Given the description of an element on the screen output the (x, y) to click on. 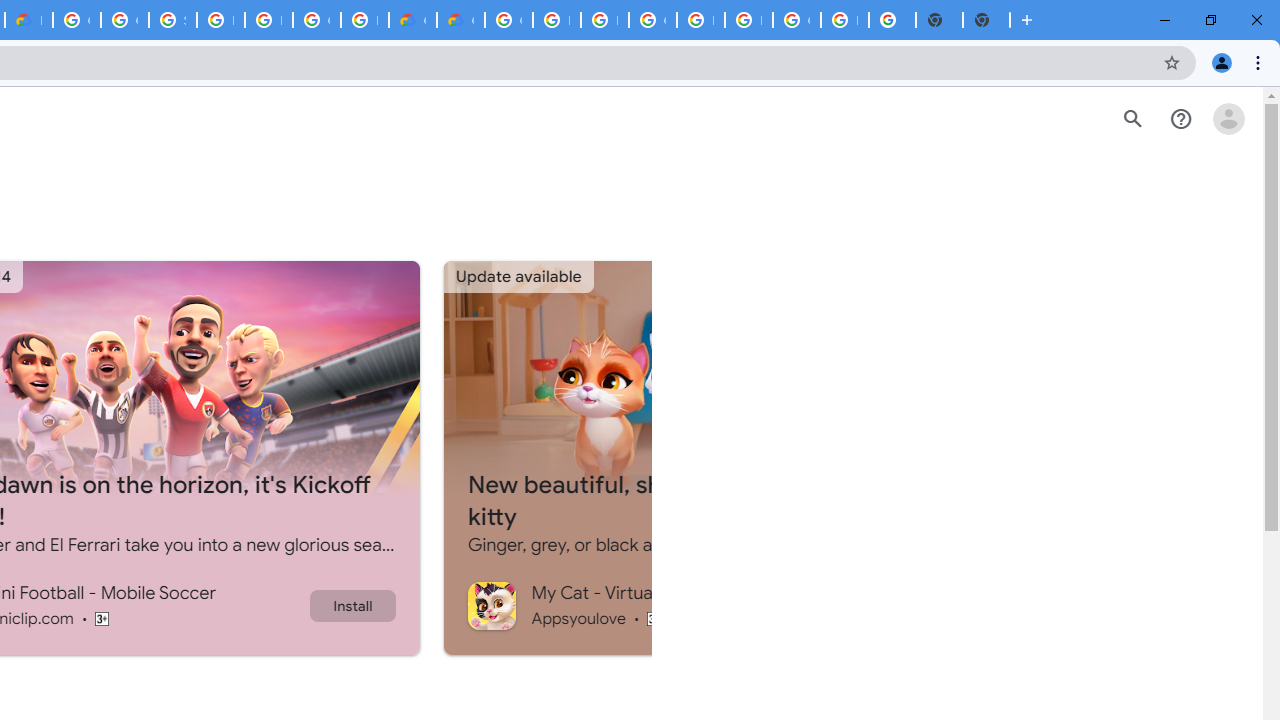
Customer Care | Google Cloud (412, 20)
Content rating Rated for 3+ (653, 618)
Google Cloud Platform (652, 20)
Search (1132, 119)
Google Cloud Estimate Summary (460, 20)
Browse Chrome as a guest - Computer - Google Chrome Help (604, 20)
Open account menu (1228, 119)
Google Cloud Platform (316, 20)
Google Cloud Platform (76, 20)
Install (351, 605)
